Given the description of an element on the screen output the (x, y) to click on. 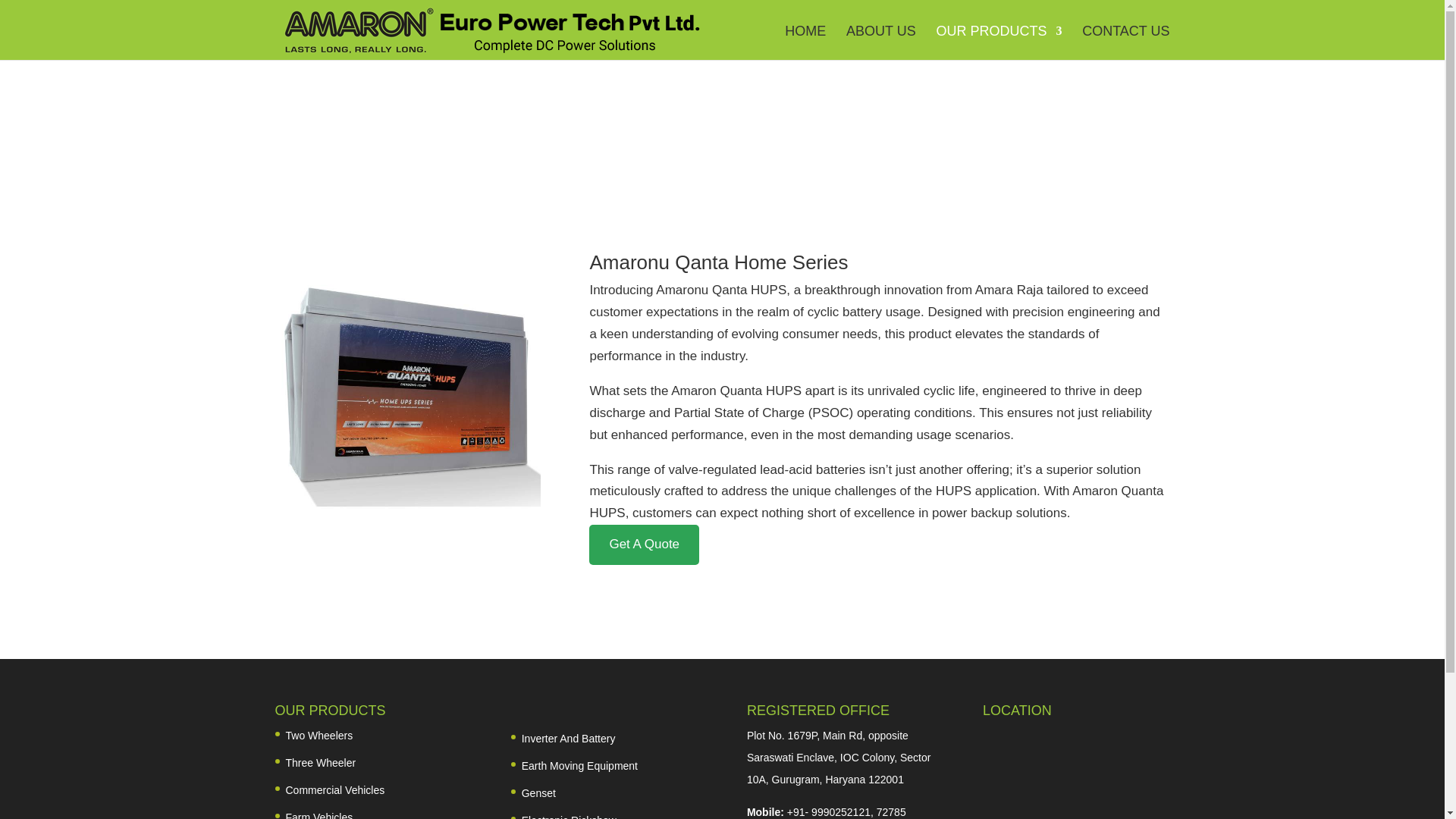
OUR PRODUCTS (998, 41)
Farm Vehicles (318, 815)
Earth Moving Equipment (579, 766)
Three Wheeler (320, 762)
Genset (538, 793)
ABOUT US (880, 41)
HOME (804, 41)
Two Wheelers (318, 735)
Commercial Vehicles (334, 789)
Get A Quote (643, 544)
CONTACT US (1125, 41)
Inverter And Battery (568, 738)
